Given the description of an element on the screen output the (x, y) to click on. 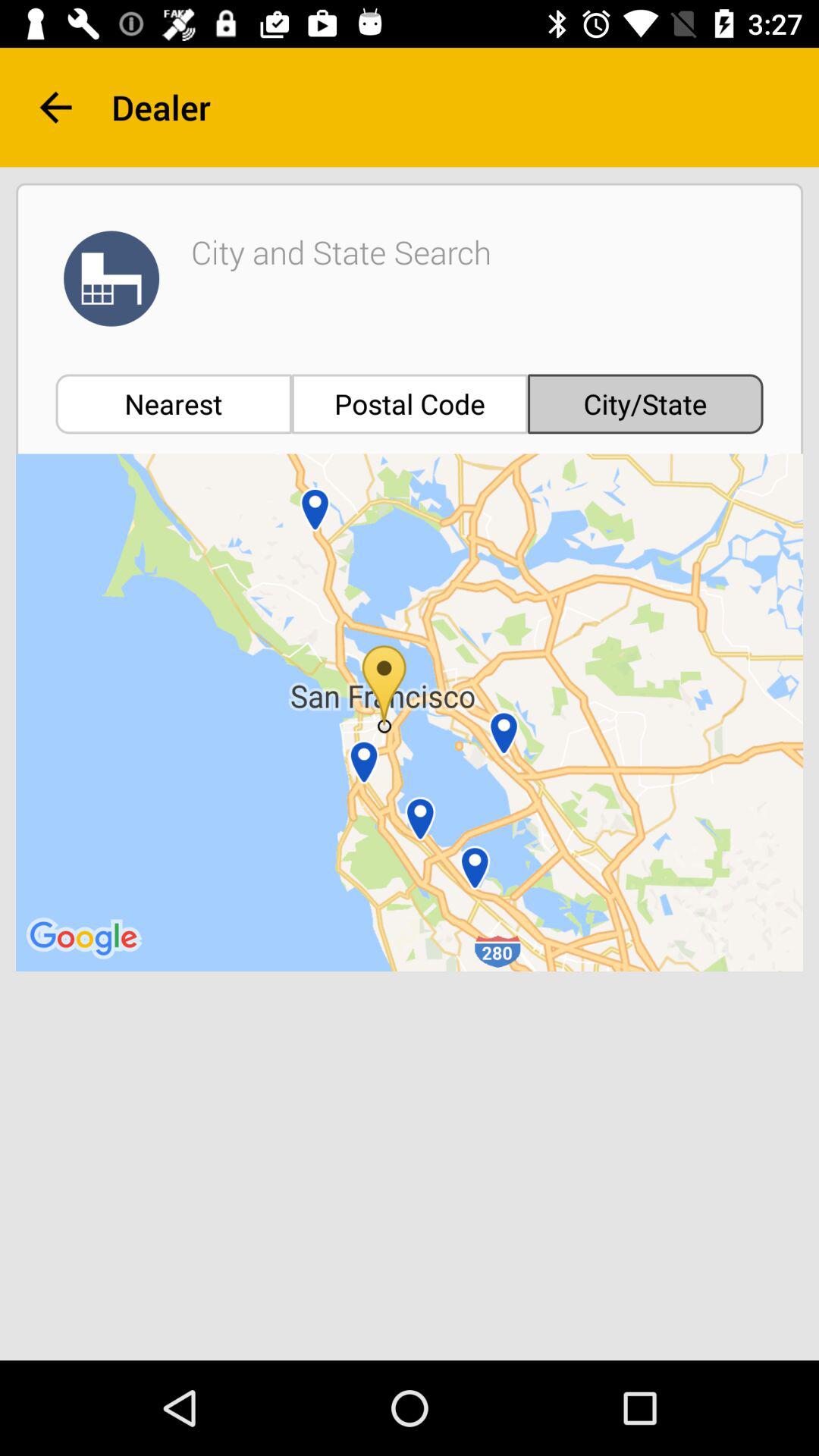
swipe until the nearest item (173, 403)
